Given the description of an element on the screen output the (x, y) to click on. 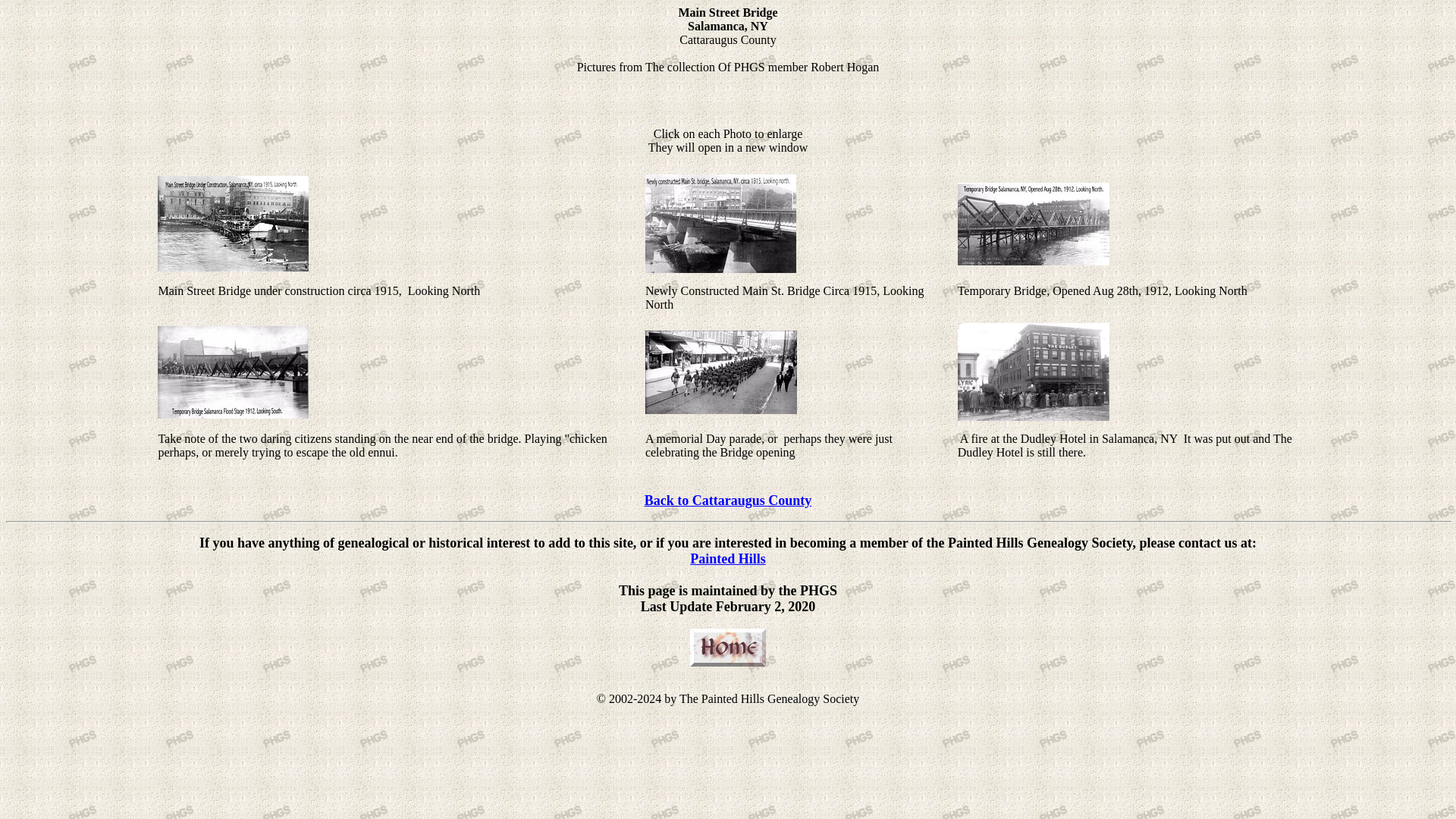
Back to Cattaraugus County (728, 500)
Painted Hills (727, 558)
